Given the description of an element on the screen output the (x, y) to click on. 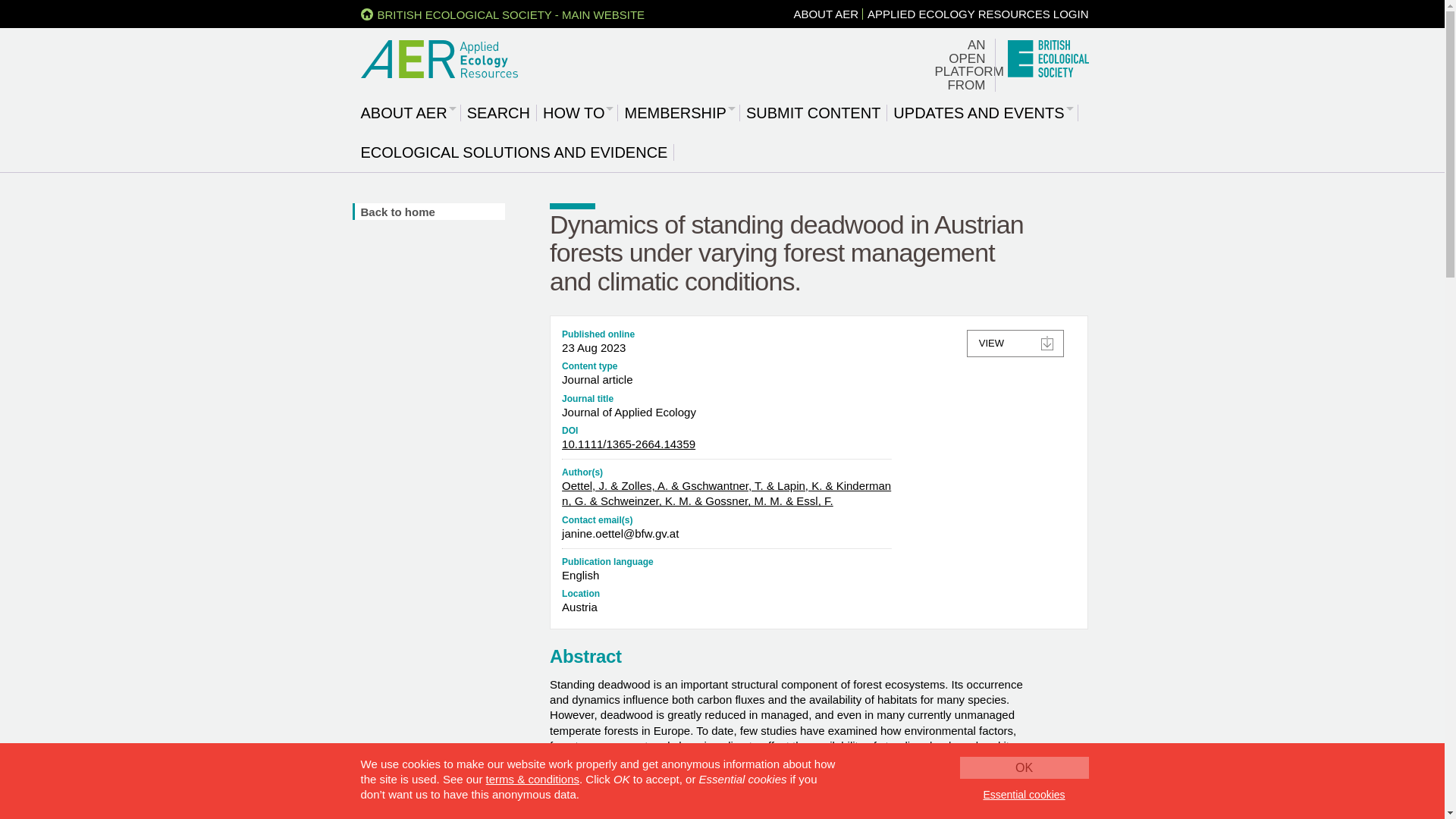
ABOUT AER (826, 13)
BRITISH ECOLOGICAL SOCIETY - MAIN WEBSITE (503, 13)
UPDATES AND EVENTS (983, 112)
MEMBERSHIP (679, 112)
APPLIED ECOLOGY RESOURCES LOGIN (977, 13)
HOW TO (577, 112)
SEARCH (499, 112)
SUBMIT CONTENT (813, 112)
VIEW (1015, 343)
ECOLOGICAL SOLUTIONS AND EVIDENCE (515, 151)
ABOUT AER (409, 112)
Back to home (430, 211)
